Given the description of an element on the screen output the (x, y) to click on. 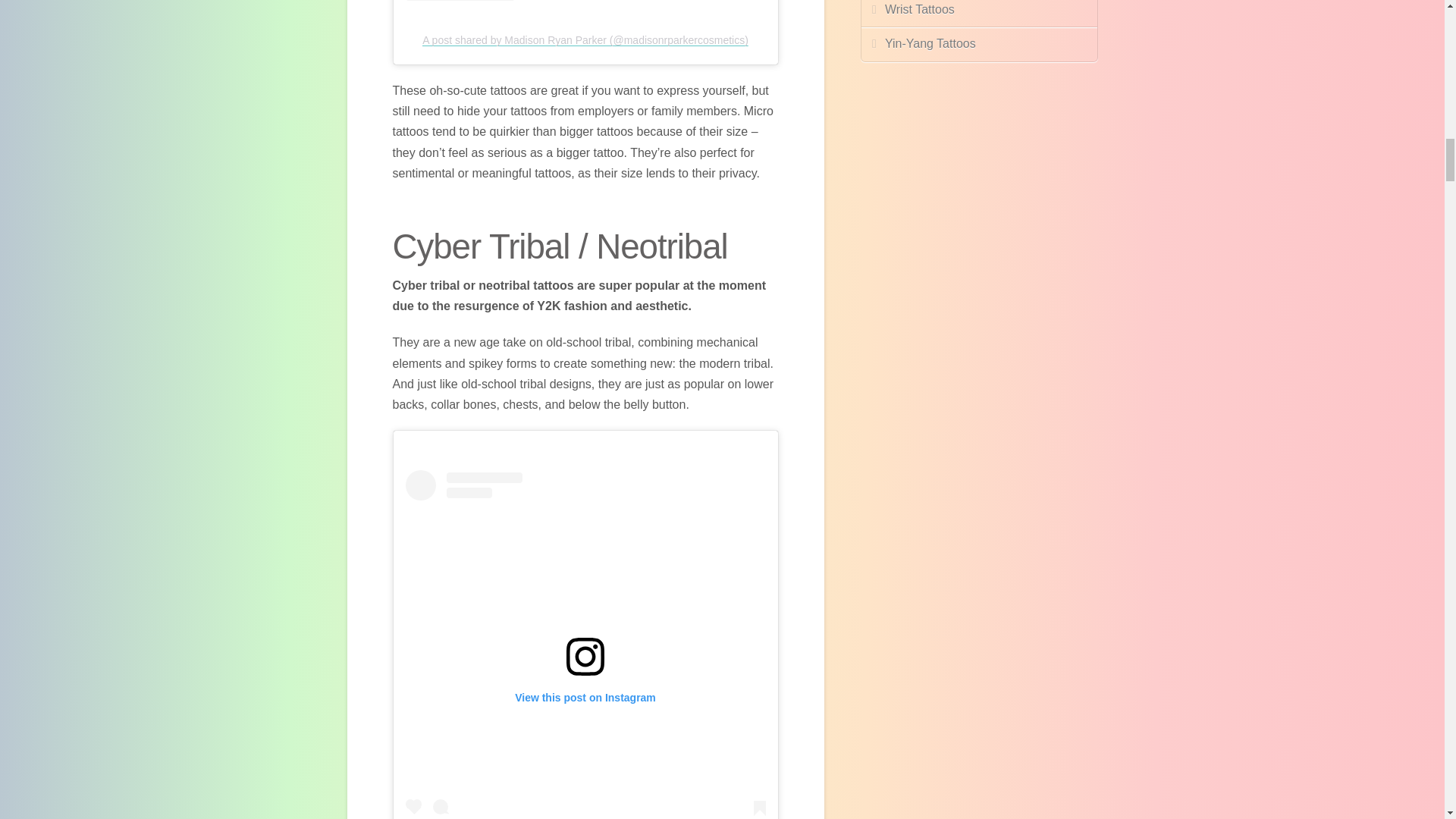
View this post on Instagram (584, 644)
